Given the description of an element on the screen output the (x, y) to click on. 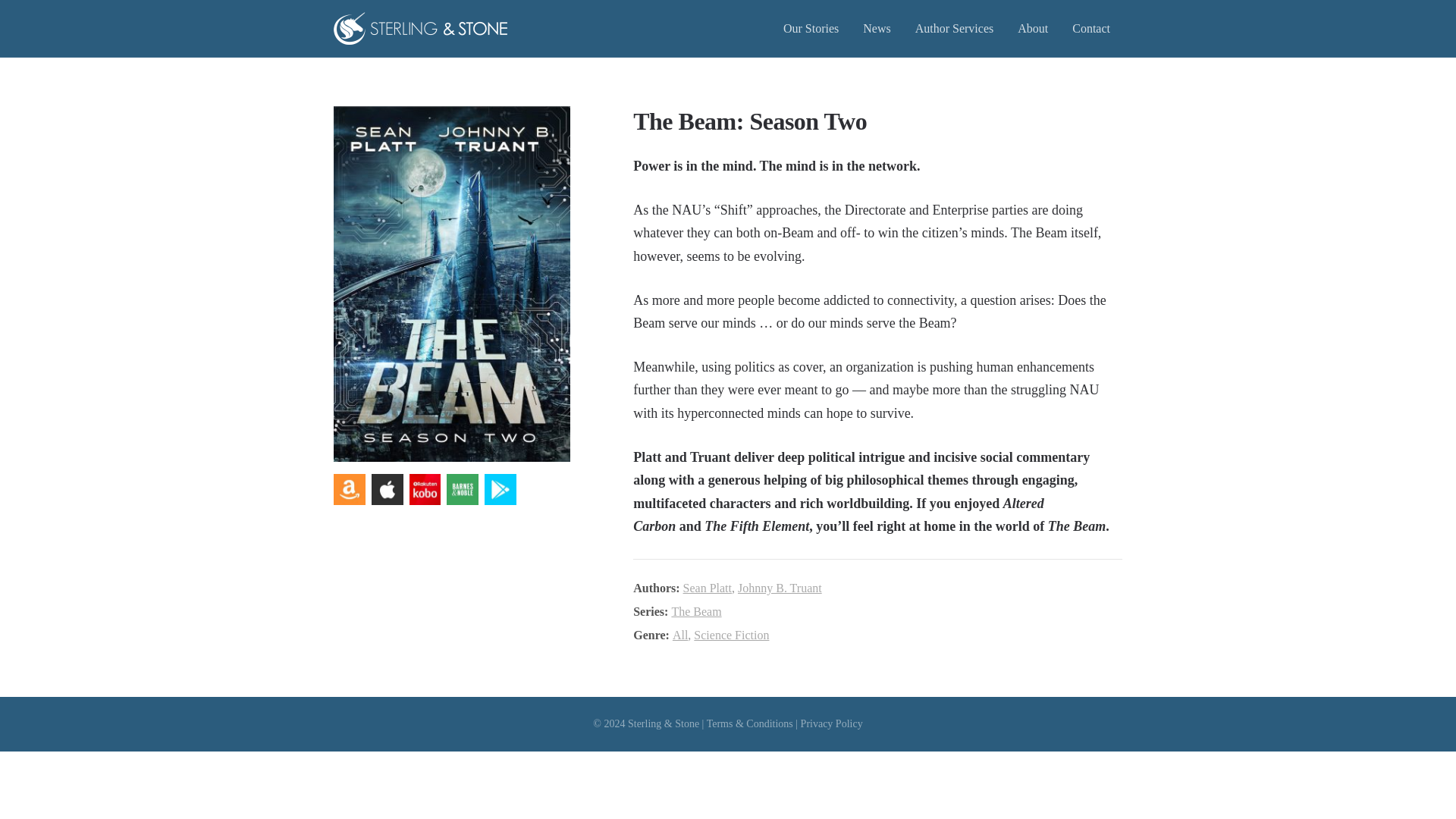
Privacy Policy (831, 723)
The Beam (695, 611)
Our Stories (810, 28)
News (876, 28)
Contact (1090, 28)
All (679, 634)
About (1032, 28)
Sean Platt (707, 587)
Author Services (954, 28)
Johnny B. Truant (780, 587)
Science Fiction (731, 634)
